Given the description of an element on the screen output the (x, y) to click on. 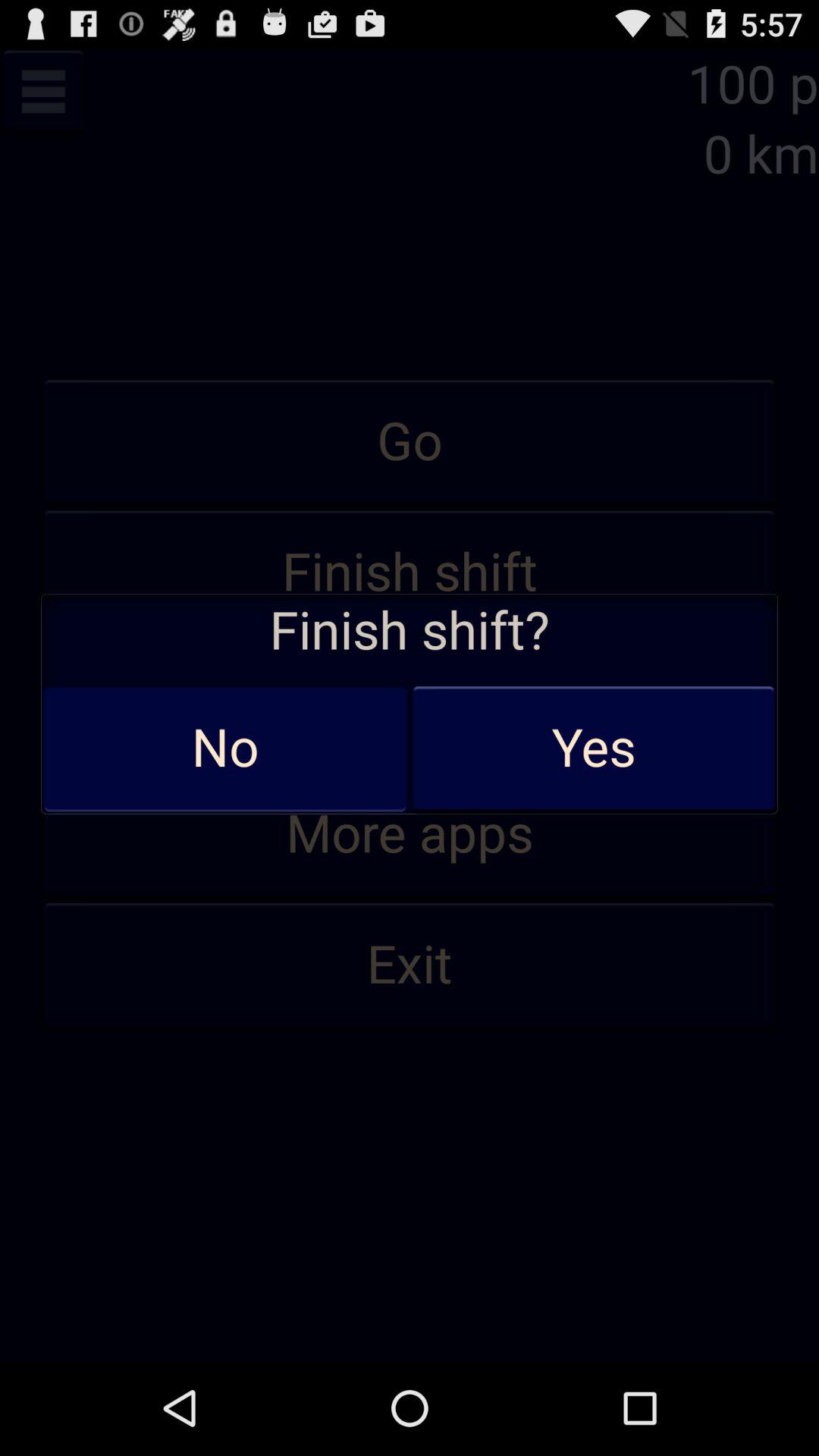
turn on the yes (593, 748)
